Given the description of an element on the screen output the (x, y) to click on. 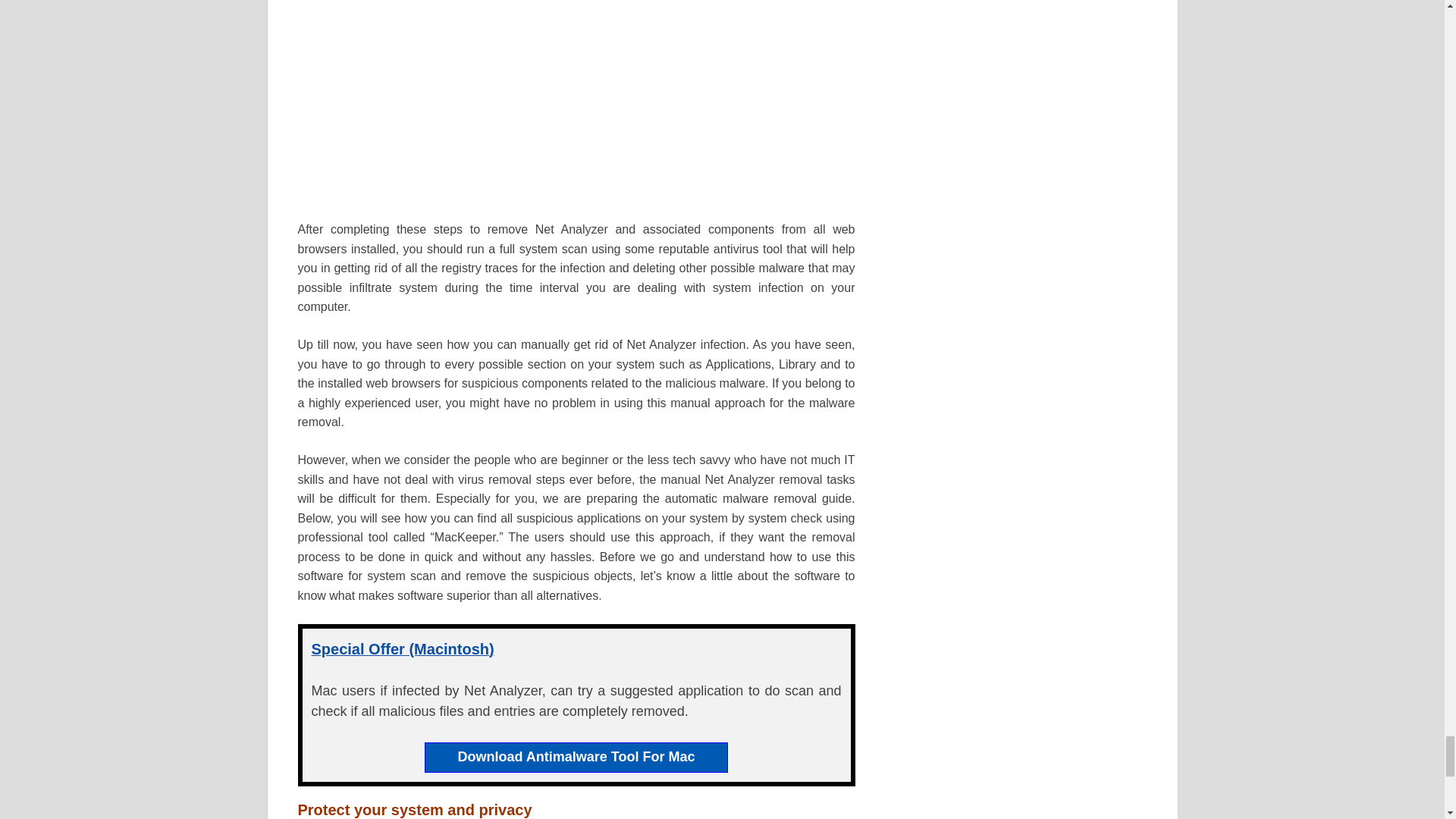
Download Antimalware Tool For Mac (575, 756)
